Given the description of an element on the screen output the (x, y) to click on. 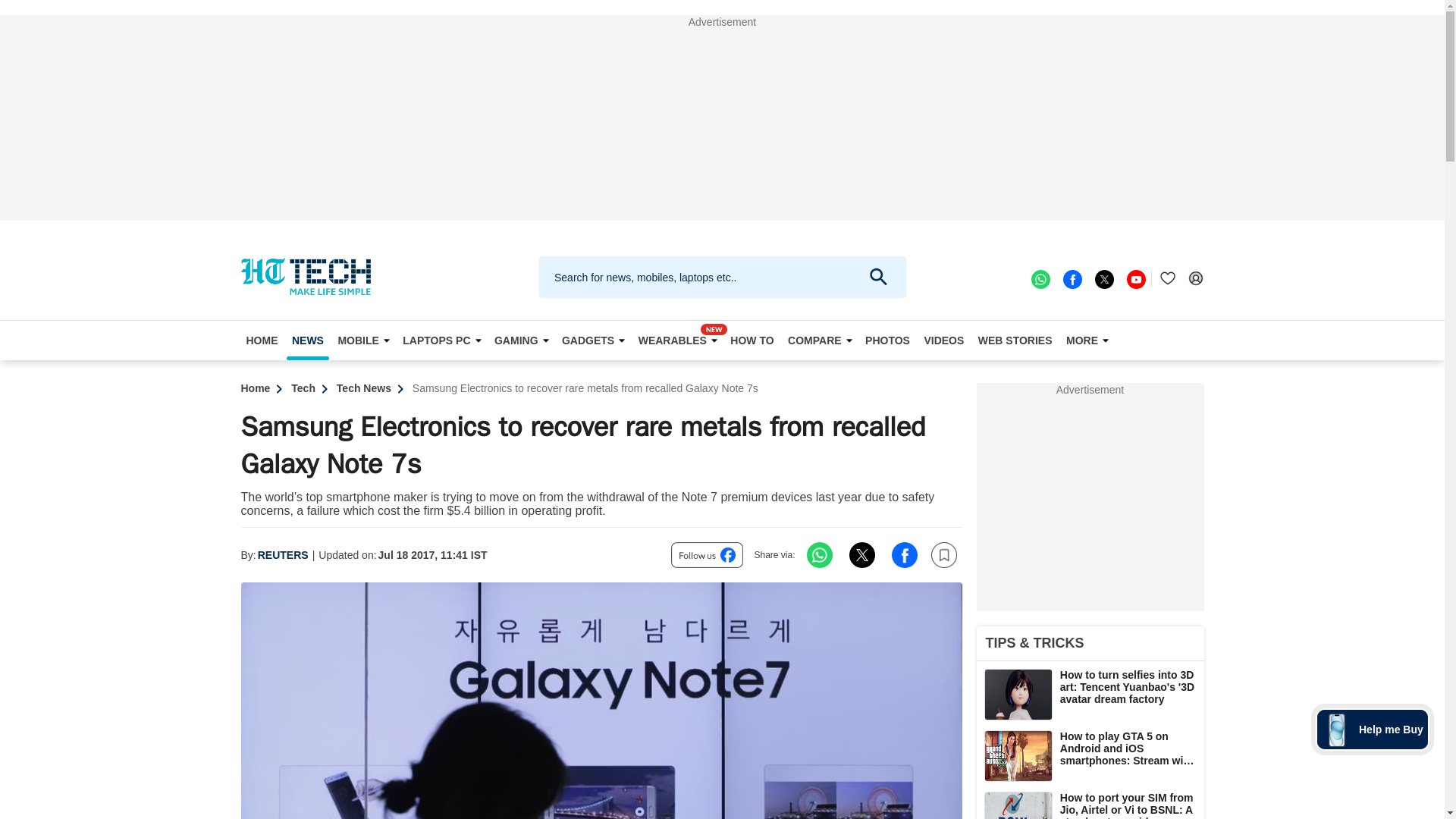
HOME (262, 340)
NEWS (307, 340)
GADGETS (592, 340)
facebook (1071, 278)
youtube (1134, 278)
WEARABLES (677, 340)
LAPTOPS PC (440, 340)
Login (1196, 278)
HOW TO (751, 340)
